Given the description of an element on the screen output the (x, y) to click on. 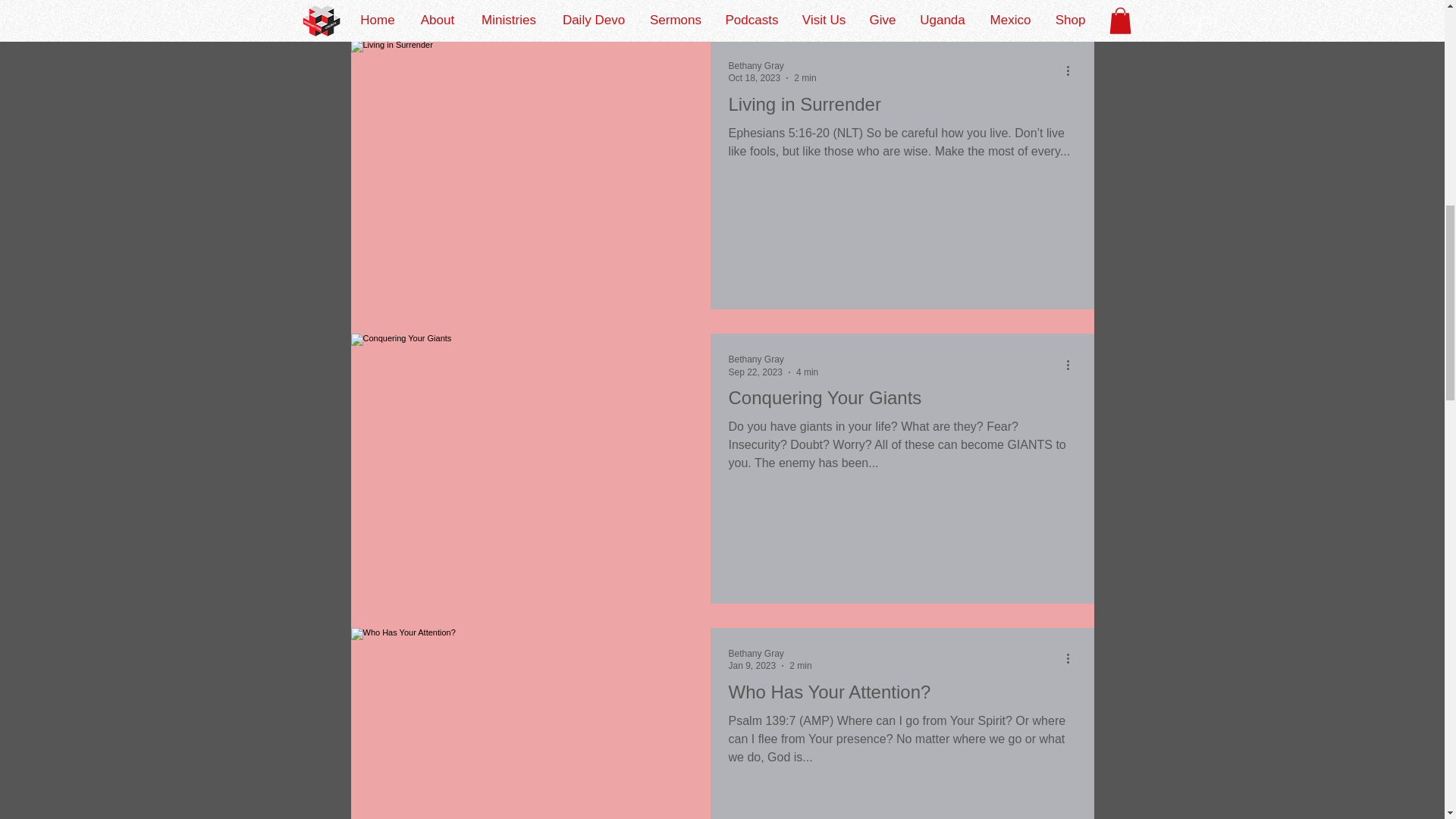
Bethany Gray (755, 653)
Living in Surrender (901, 108)
Sep 22, 2023 (754, 371)
Bethany Gray (755, 358)
Bethany Gray (769, 653)
Bethany Gray (773, 359)
Conquering Your Giants (901, 401)
Oct 18, 2023 (754, 77)
Bethany Gray (771, 65)
Jan 9, 2023 (752, 665)
Who Has Your Attention? (901, 695)
Bethany Gray (755, 65)
2 min (799, 665)
2 min (804, 77)
4 min (807, 371)
